Given the description of an element on the screen output the (x, y) to click on. 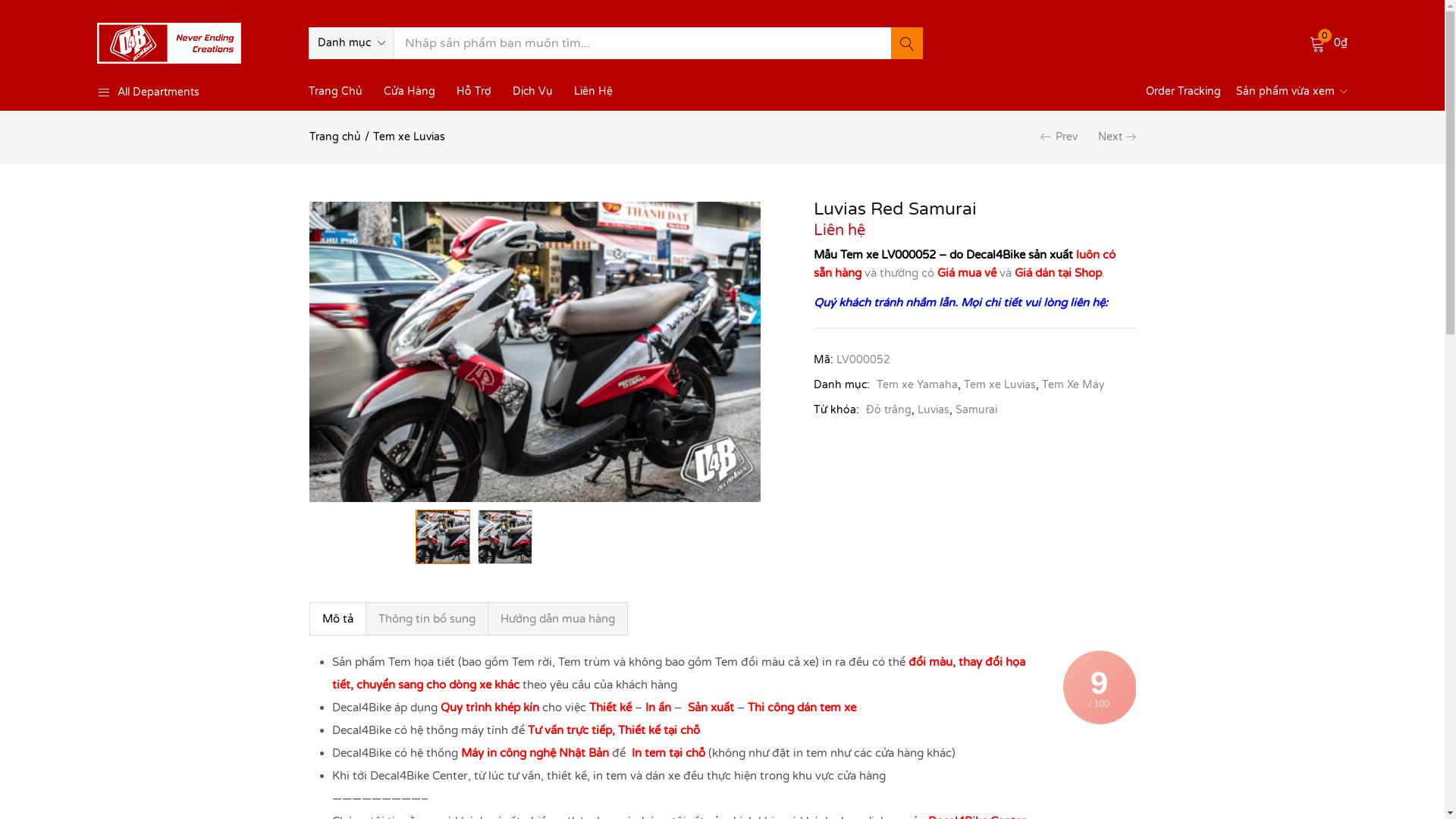
Tem xe Luvias Element type: text (409, 136)
Tem xe Luvias Element type: text (999, 384)
Samurai Element type: text (976, 409)
Next Element type: text (1110, 136)
All Departments Element type: text (191, 92)
LV000052 - Luvias Red Samurai Element type: hover (534, 351)
Order Tracking Element type: text (1182, 90)
Prev Element type: text (1066, 136)
Luvias Element type: text (933, 409)
Tem xe Yamaha Element type: text (916, 384)
